Given the description of an element on the screen output the (x, y) to click on. 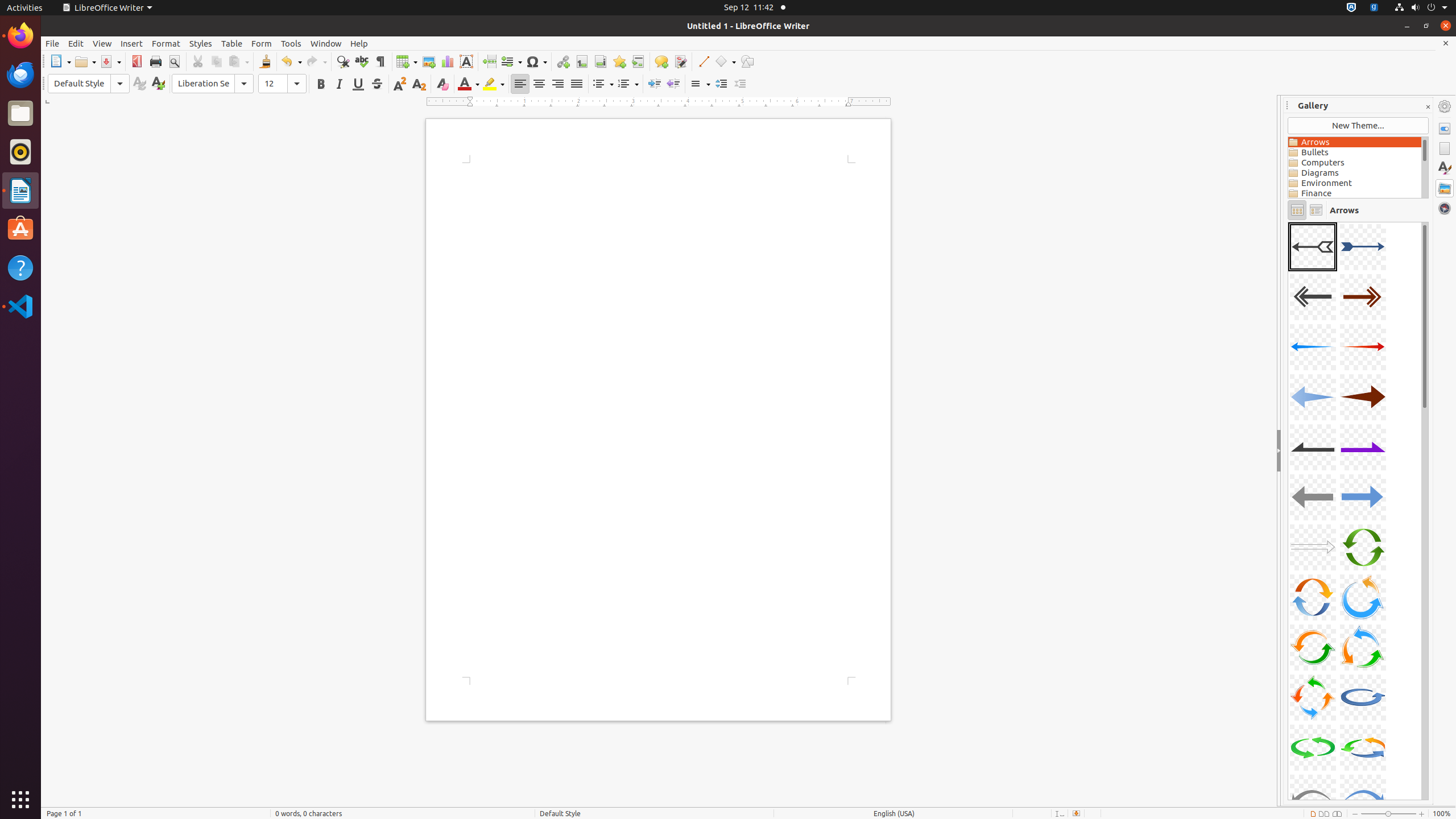
Bookmark Element type: push-button (618, 61)
Open Element type: push-button (84, 61)
Styles Element type: radio-button (1444, 168)
A11-Arrow-Gray-Left Element type: list-item (1312, 496)
A12-Arrow-LightBlue-Right Element type: list-item (1362, 496)
